Given the description of an element on the screen output the (x, y) to click on. 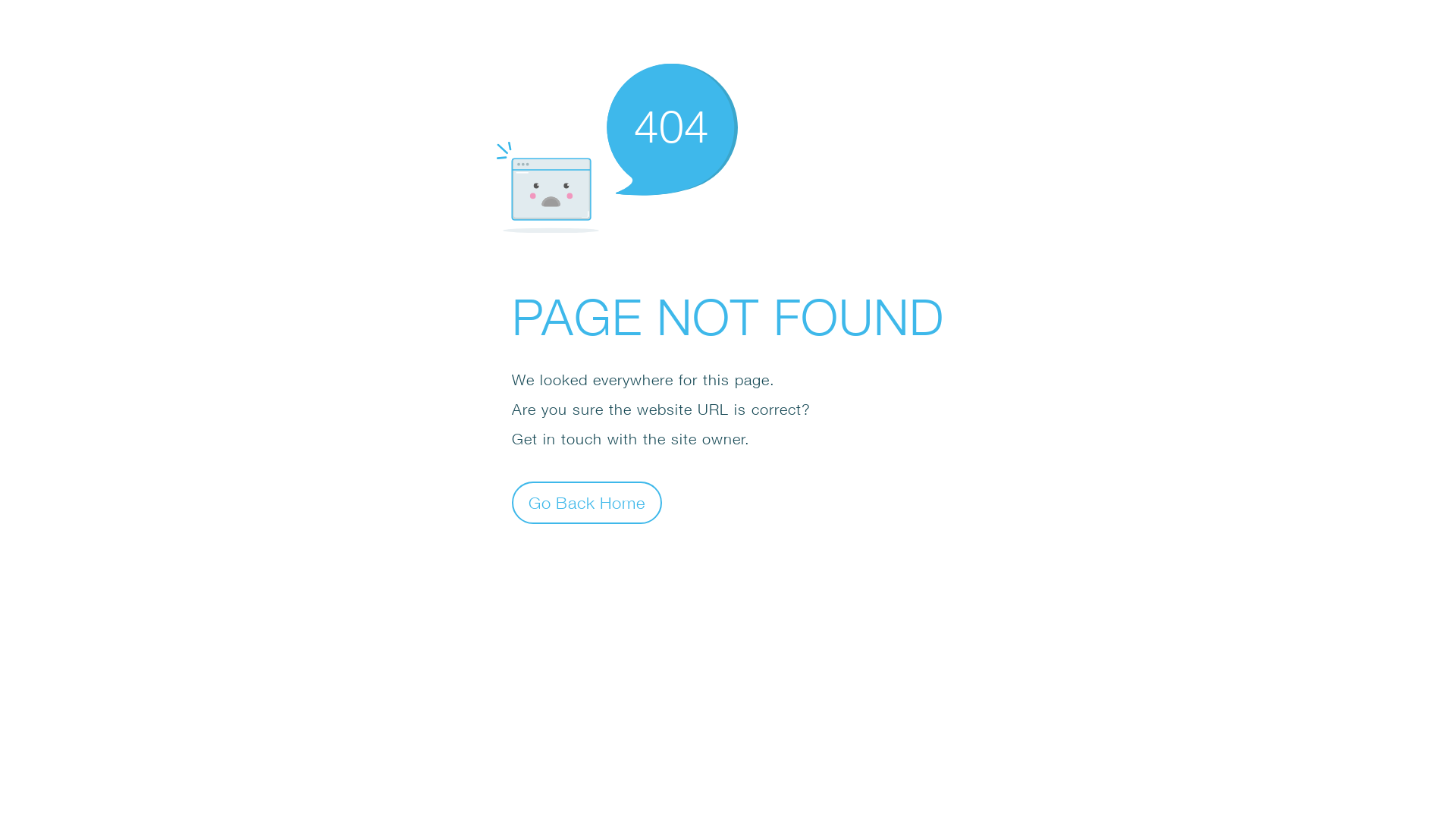
Go Back Home Element type: text (586, 502)
